Given the description of an element on the screen output the (x, y) to click on. 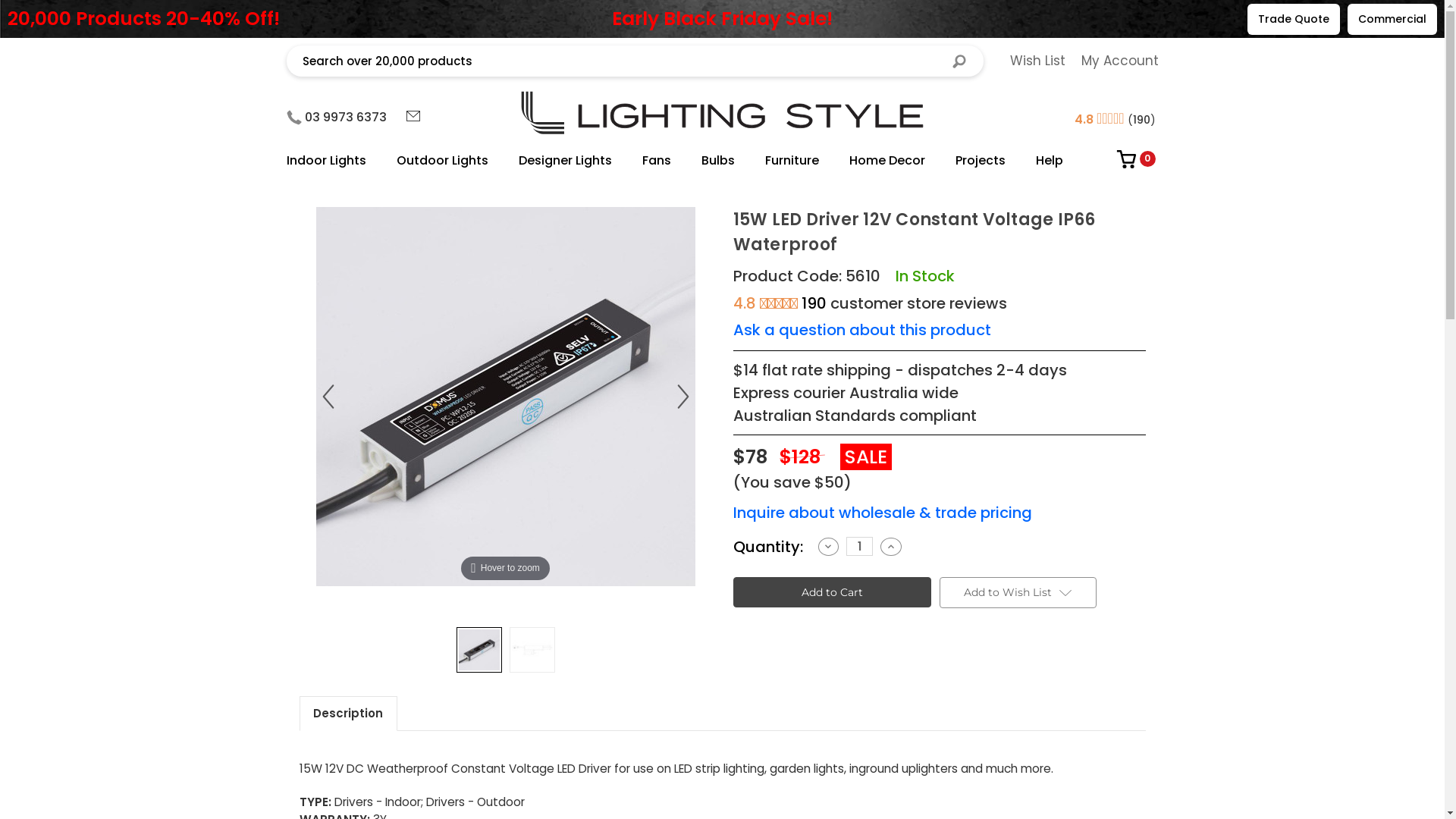
Fans Element type: text (655, 160)
Inquire about wholesale & trade pricing Element type: text (881, 512)
Add to Wish List Element type: text (1017, 592)
WP12/15 Constant Voltage 12V 15W LED Weatherproof Driver Element type: hover (479, 649)
My Account Element type: text (1119, 60)
Indoor Lights Element type: text (333, 160)
0 Element type: text (1126, 163)
WP12/15 Constant Voltage 12V 15W LED Weatherproof Driver Element type: hover (532, 649)
Bulbs Element type: text (717, 160)
Commercial Element type: text (1392, 18)
Previous Element type: hover (327, 396)
WP12/15 Constant Voltage 12V 15W LED Weatherproof Driver Element type: hover (504, 396)
Wish List Element type: text (1037, 60)
Hover to zoom Element type: text (504, 396)
Furniture Element type: text (791, 160)
Home Decor Element type: text (887, 160)
Add to Cart Element type: text (831, 592)
Next Element type: hover (682, 396)
Description Element type: text (348, 713)
Projects Element type: text (980, 160)
Designer Lights Element type: text (565, 160)
Ask a question about this product Element type: text (861, 329)
Outdoor Lights Element type: text (441, 160)
Trade Quote Element type: text (1293, 18)
Help Element type: text (1049, 160)
